Given the description of an element on the screen output the (x, y) to click on. 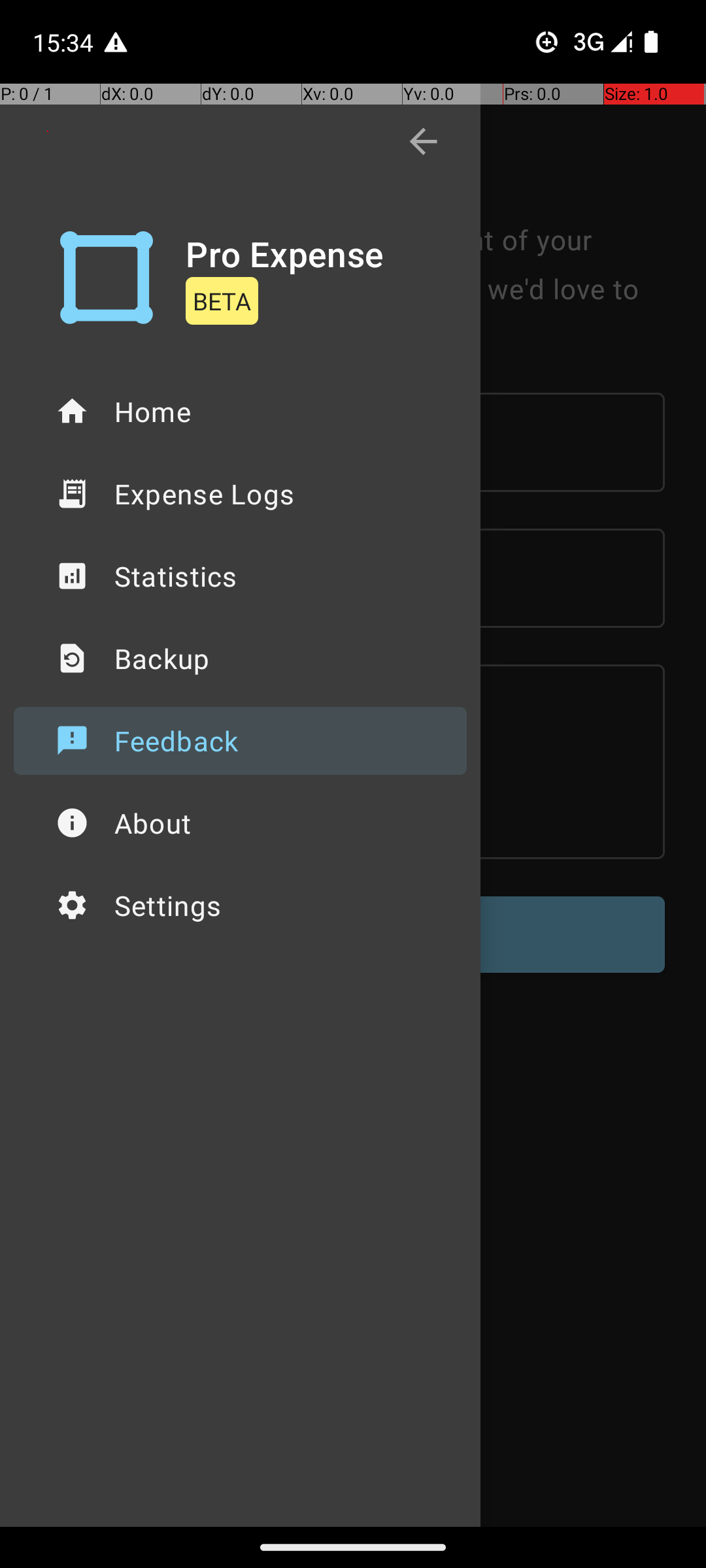
Pro Expense Element type: android.widget.TextView (284, 253)
BETA Element type: android.widget.TextView (221, 300)
Expense Logs Element type: android.widget.CheckedTextView (239, 493)
Statistics Element type: android.widget.CheckedTextView (239, 576)
Backup Element type: android.widget.CheckedTextView (239, 658)
Feedback Element type: android.widget.CheckedTextView (239, 740)
About Element type: android.widget.CheckedTextView (239, 823)
